Given the description of an element on the screen output the (x, y) to click on. 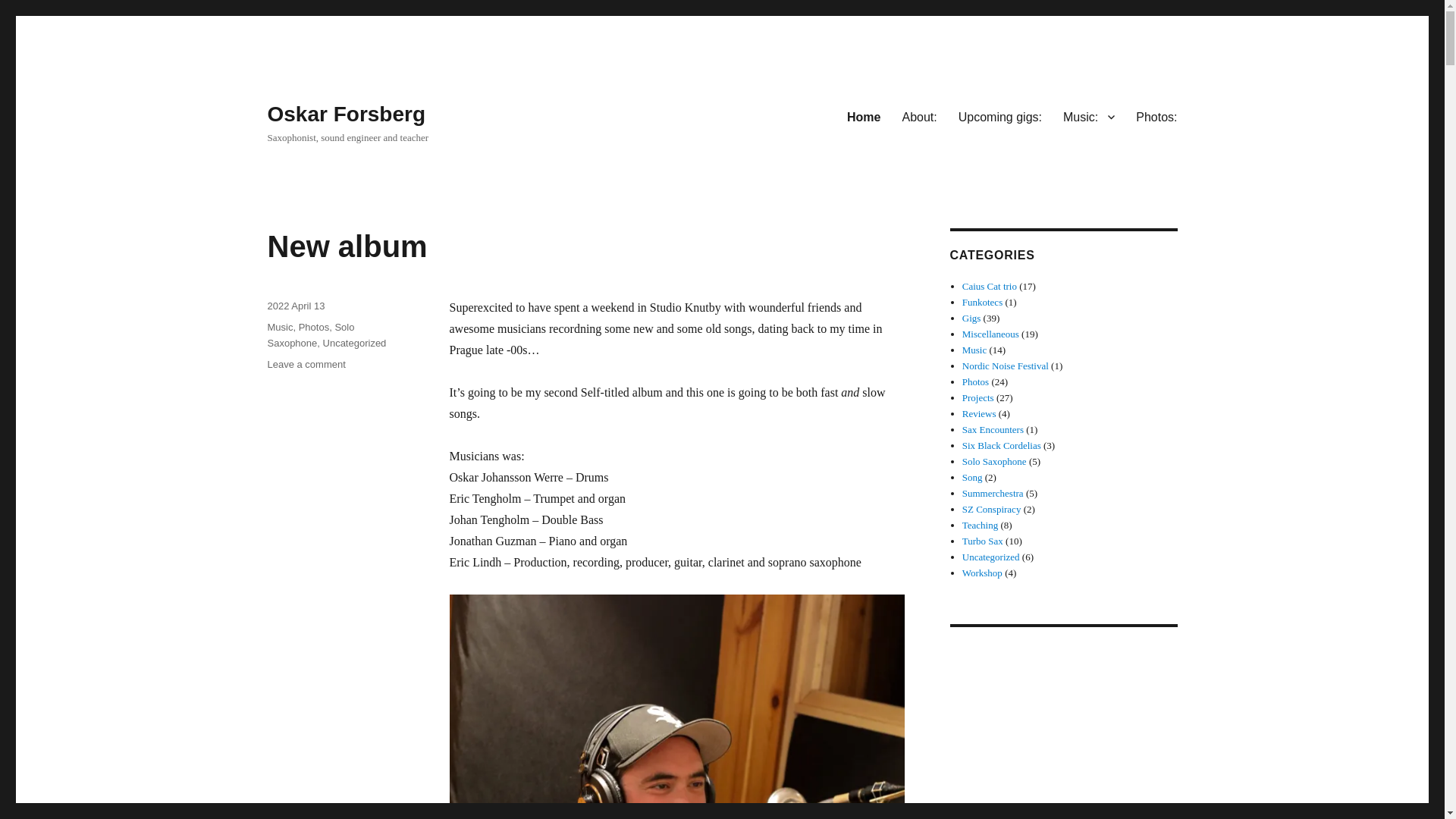
Uncategorized (355, 342)
Upcoming gigs: (999, 116)
Music: (1088, 116)
2022 April 13 (295, 306)
Photos (313, 326)
Music (279, 326)
Oskar Forsberg (345, 114)
Home (305, 364)
Solo Saxophone (863, 116)
About: (309, 334)
New album (919, 116)
Photos: (346, 246)
